Given the description of an element on the screen output the (x, y) to click on. 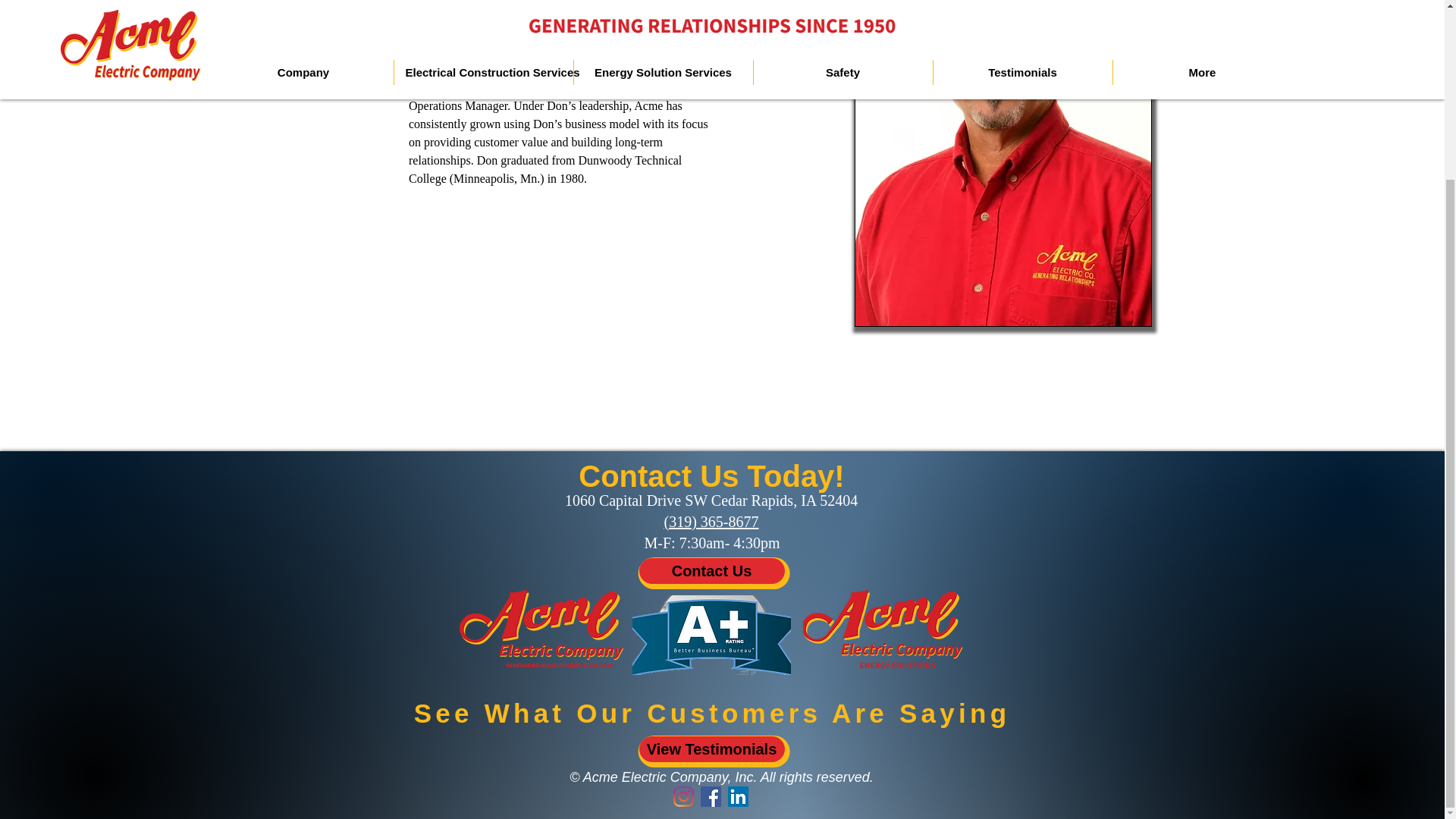
View Testimonials (711, 749)
Contact Us (711, 570)
